Given the description of an element on the screen output the (x, y) to click on. 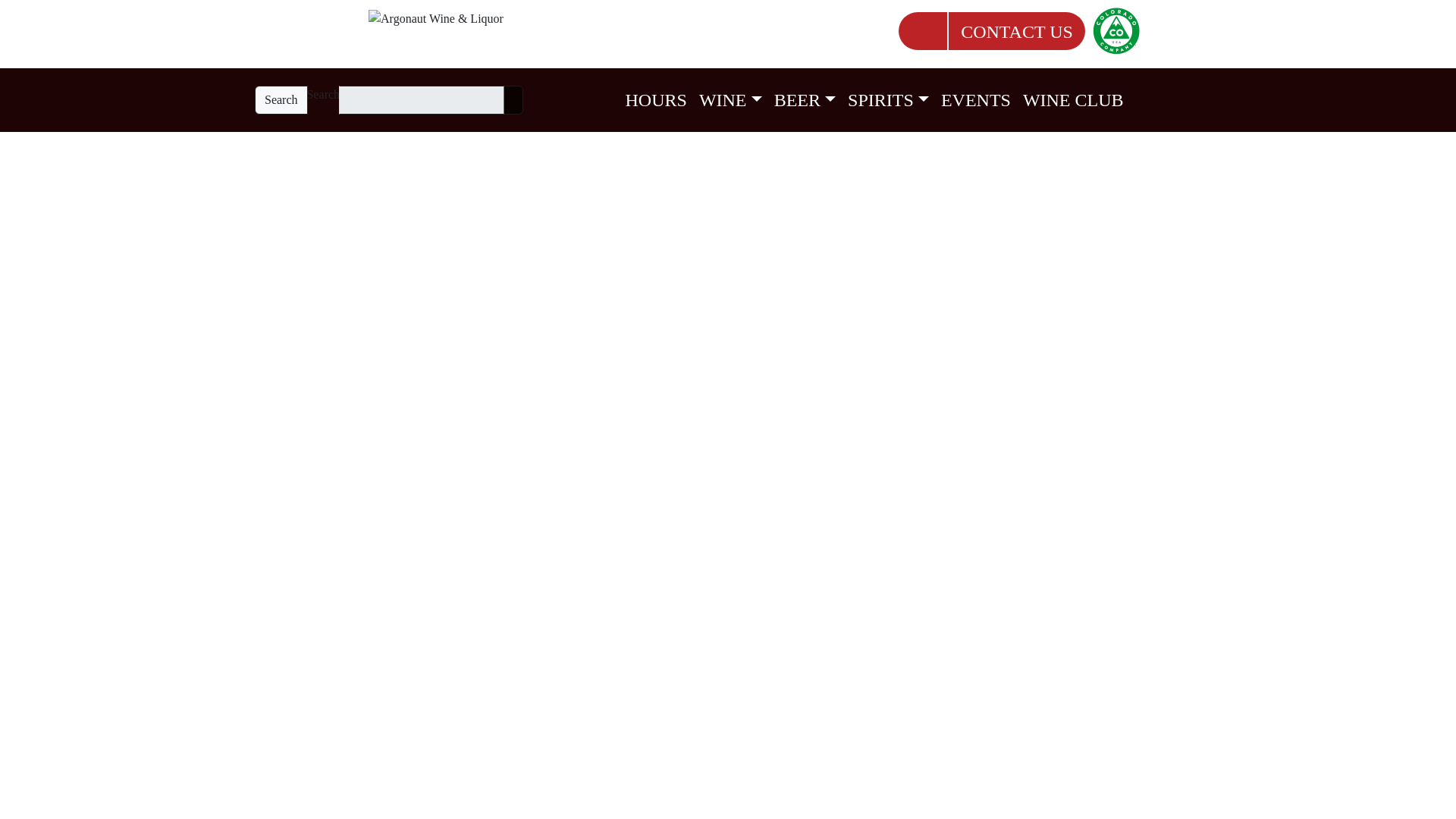
HOURS (656, 99)
CONTACT US (1016, 31)
WINE (730, 99)
